Given the description of an element on the screen output the (x, y) to click on. 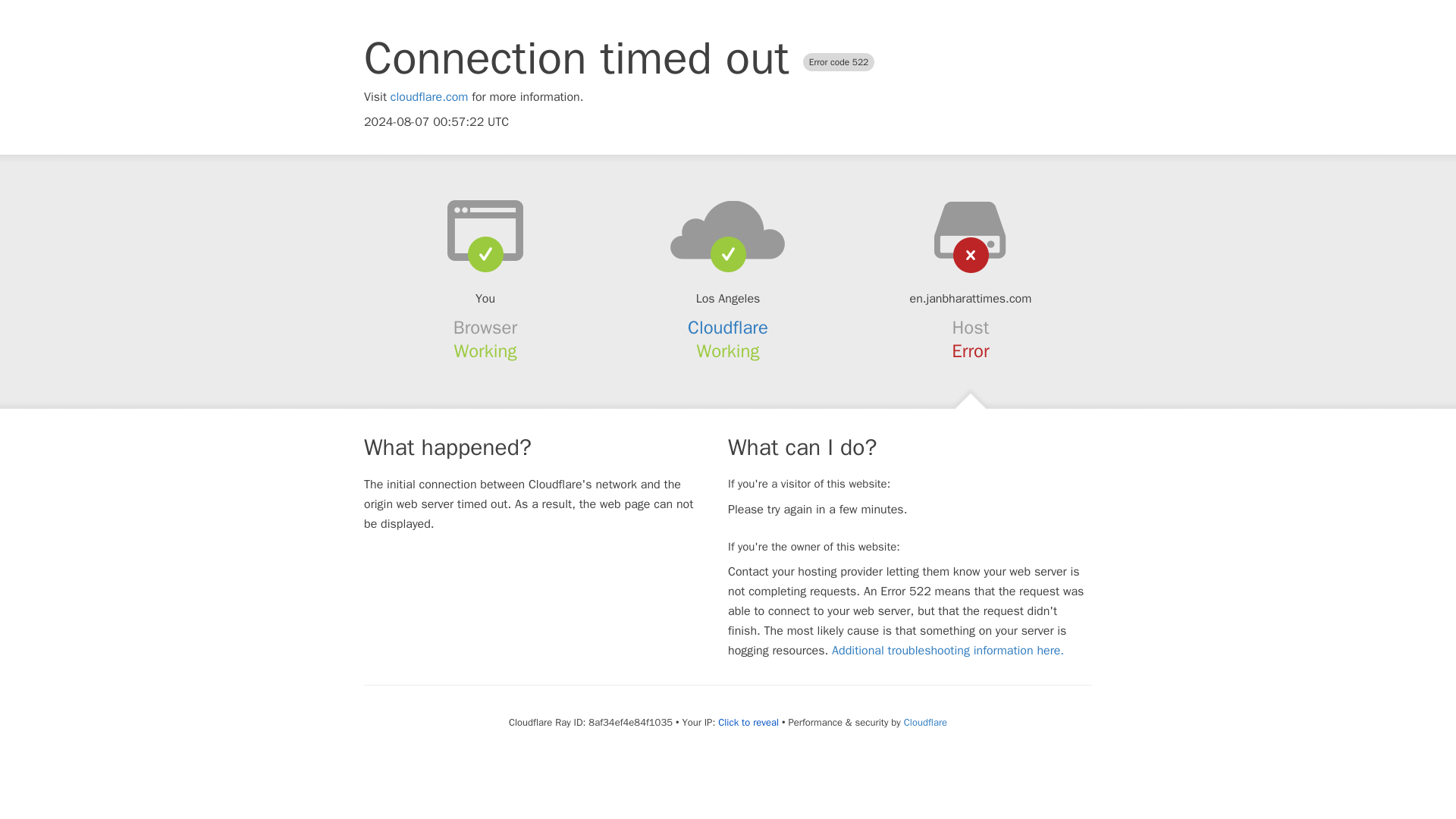
Additional troubleshooting information here. (947, 650)
Click to reveal (747, 722)
Cloudflare (925, 721)
cloudflare.com (429, 96)
Cloudflare (727, 327)
